Given the description of an element on the screen output the (x, y) to click on. 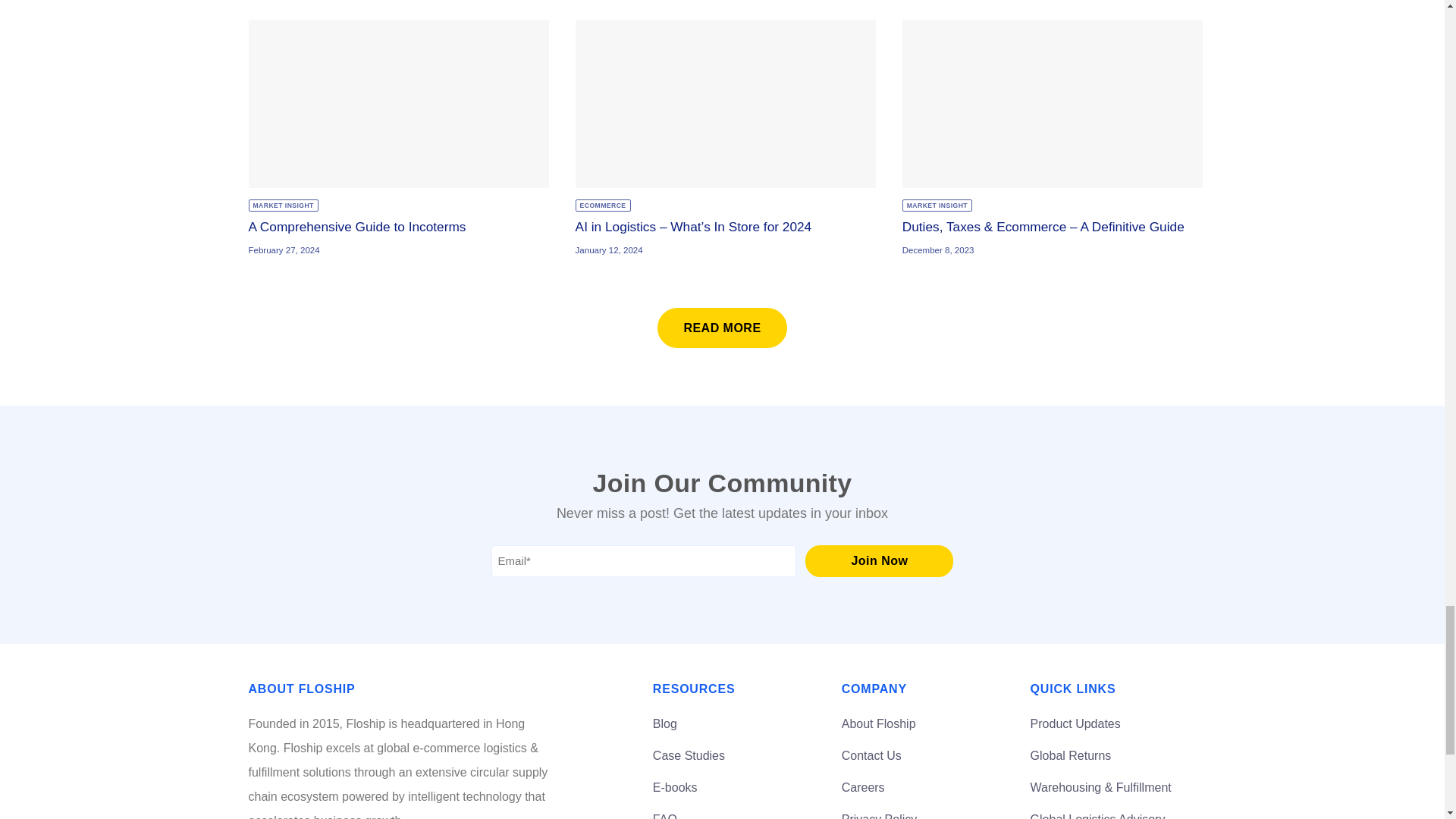
Join Now (879, 561)
